Given the description of an element on the screen output the (x, y) to click on. 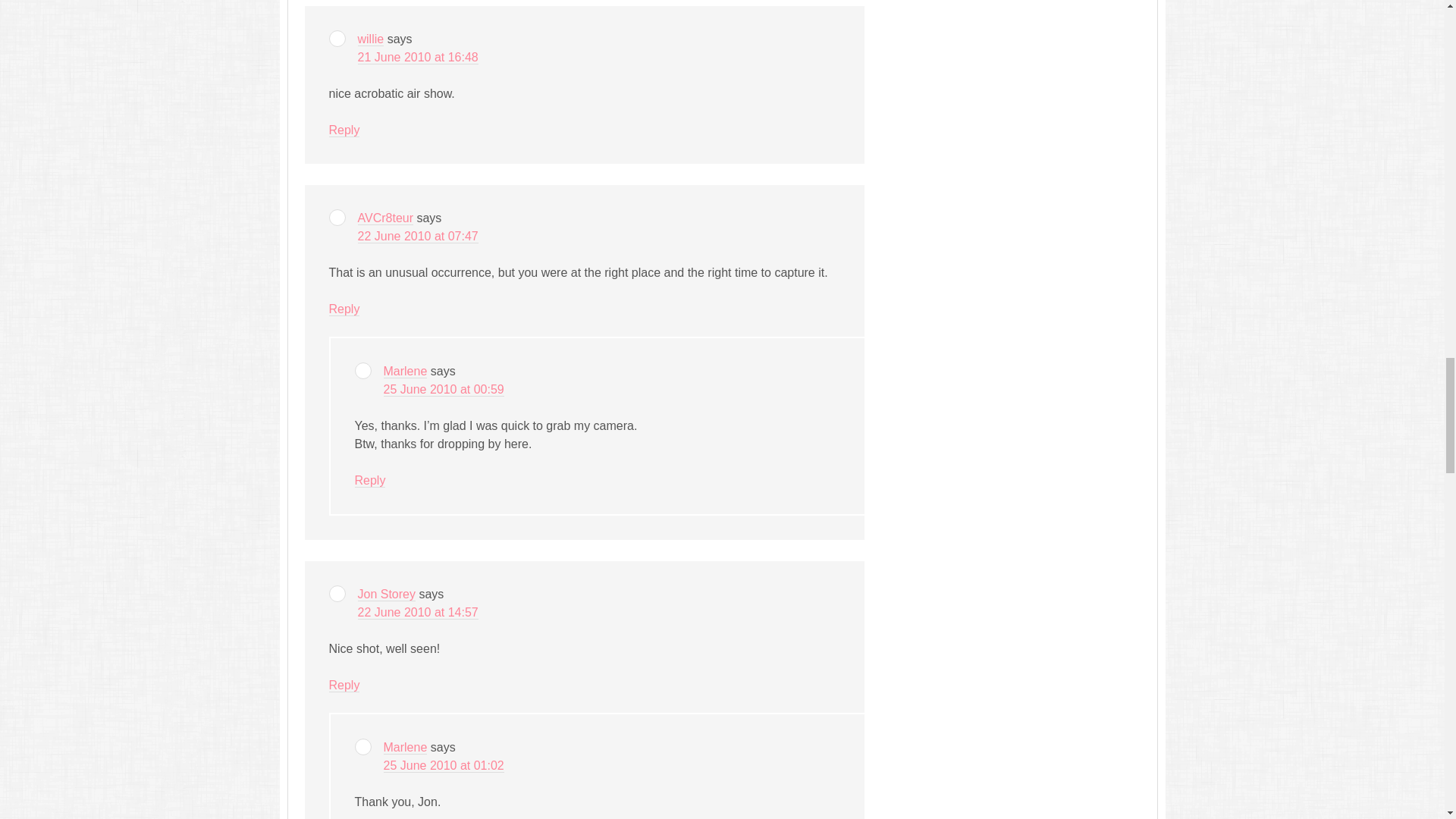
21 June 2010 at 16:48 (418, 57)
willie (371, 38)
Reply (344, 130)
